Given the description of an element on the screen output the (x, y) to click on. 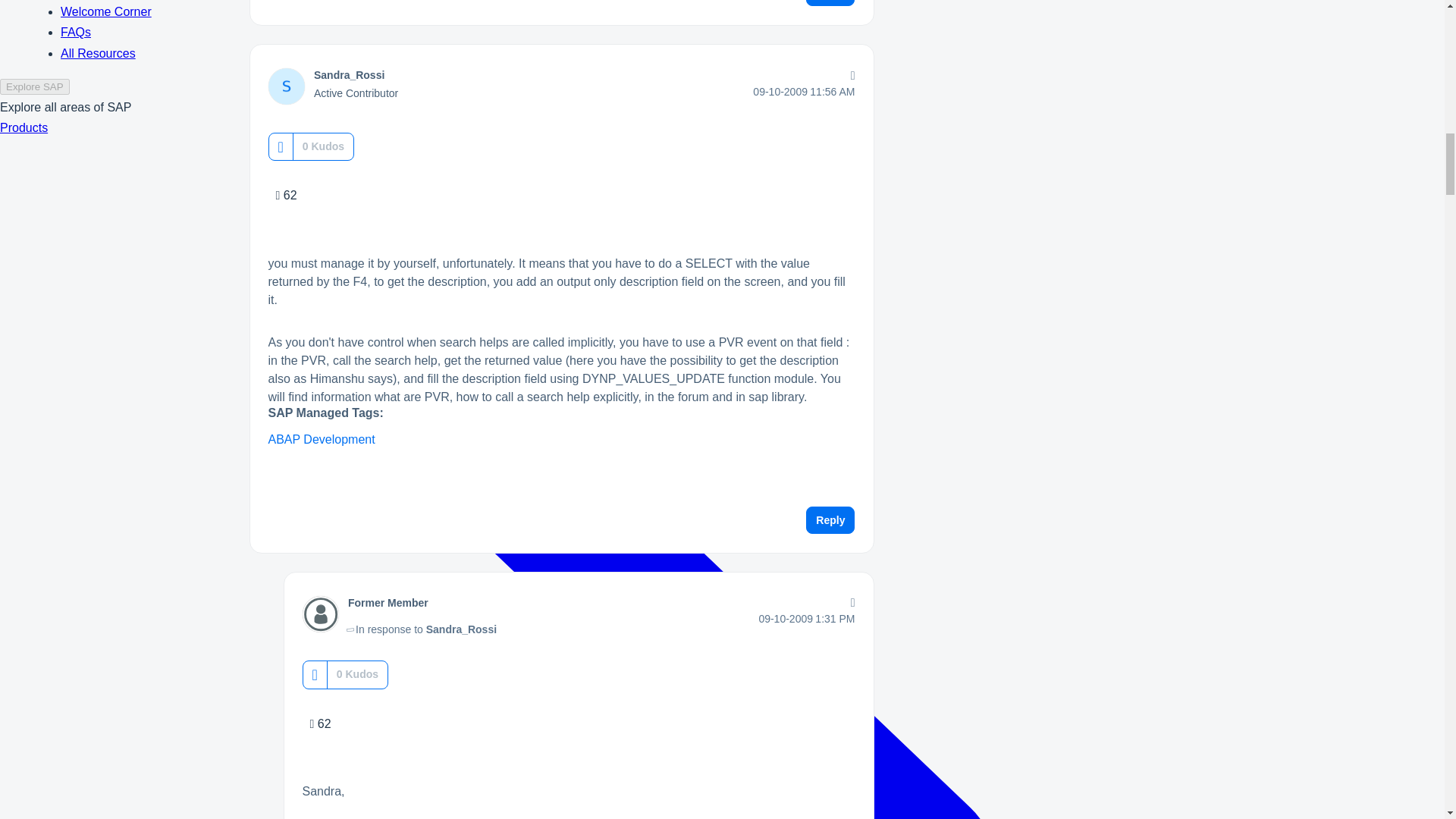
Reply (830, 2)
